Given the description of an element on the screen output the (x, y) to click on. 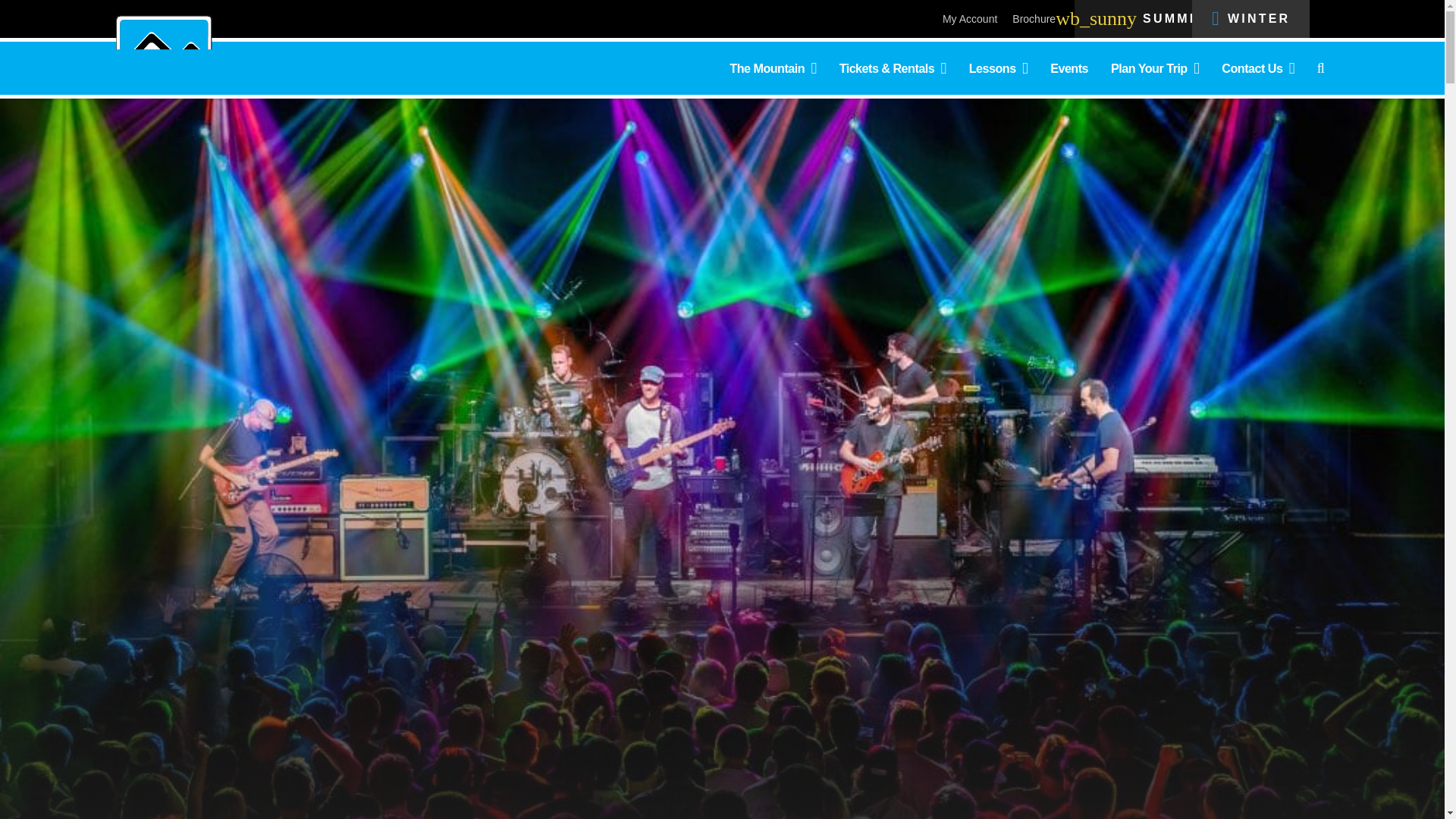
The Mountain (772, 67)
My Account (969, 19)
Brochure (1033, 19)
WINTER (1250, 18)
